Given the description of an element on the screen output the (x, y) to click on. 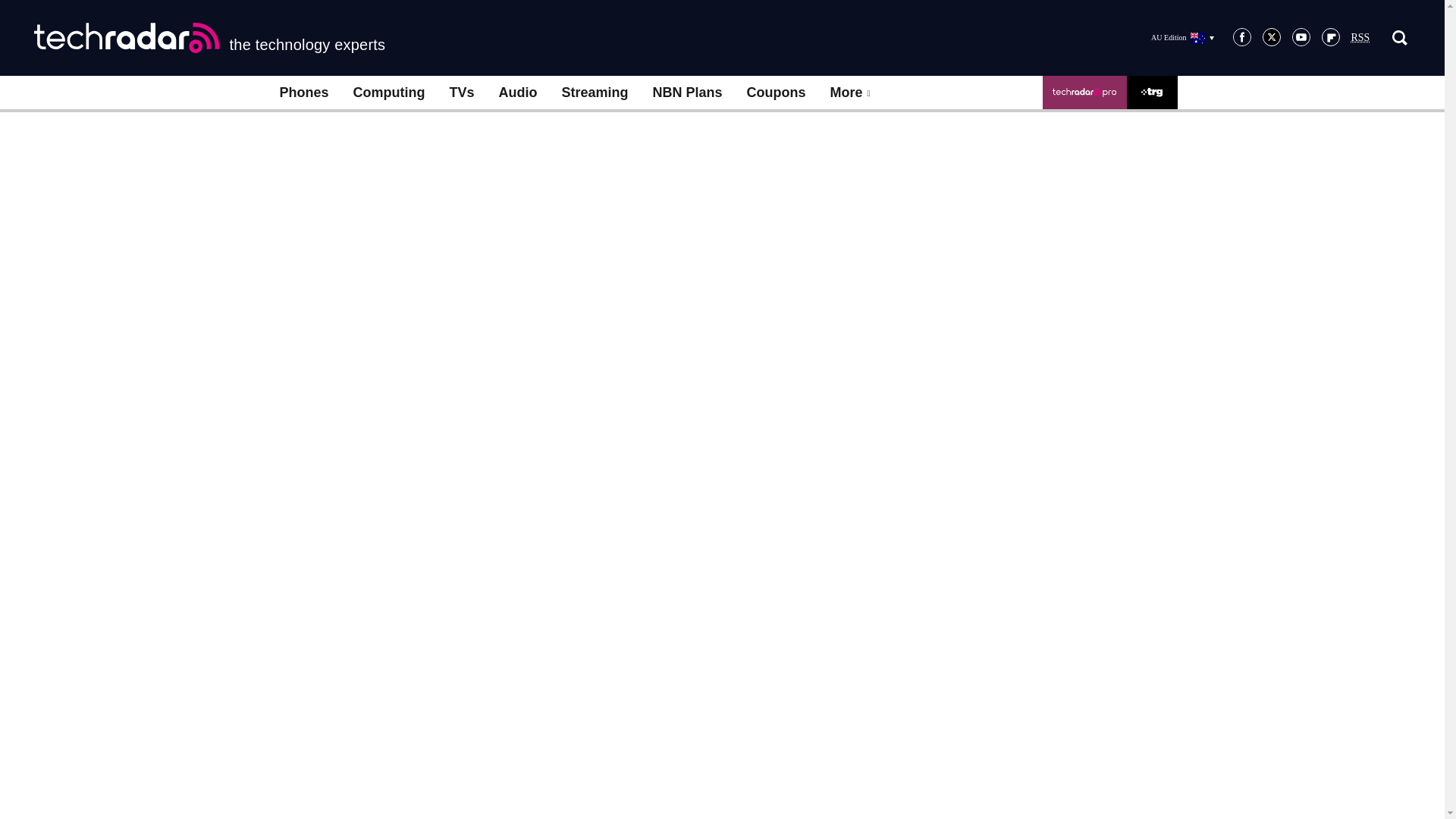
NBN Plans (687, 92)
AU Edition (1181, 37)
Audio (518, 92)
Phones (303, 92)
Really Simple Syndication (1360, 37)
the technology experts (209, 38)
Coupons (776, 92)
TVs (461, 92)
Computing (389, 92)
Streaming (595, 92)
